Given the description of an element on the screen output the (x, y) to click on. 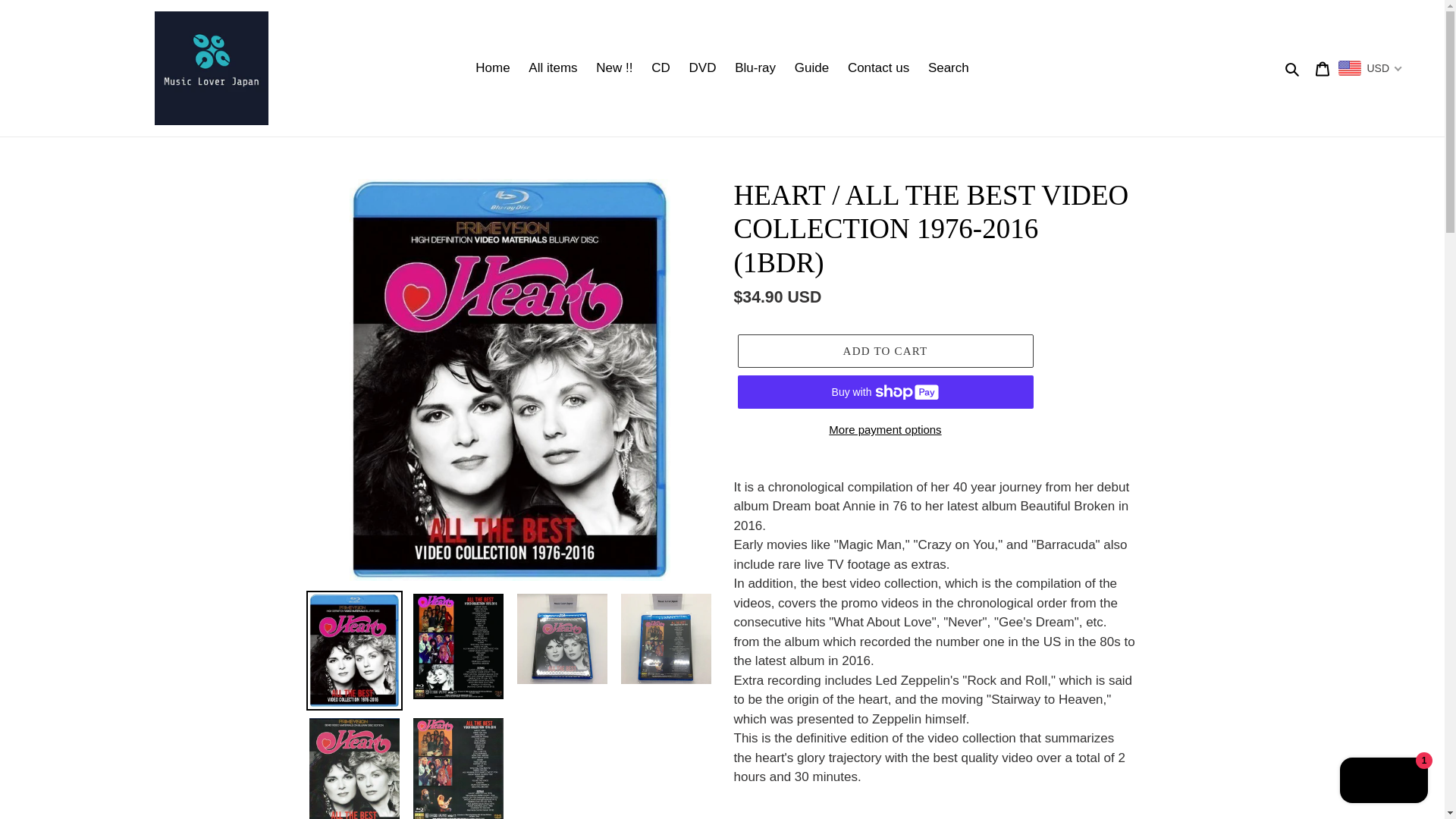
DVD (702, 68)
Search (948, 68)
Contact us (878, 68)
Blu-ray (754, 68)
All items (553, 68)
CD (660, 68)
Home (491, 68)
ADD TO CART (884, 350)
Guide (811, 68)
New !! (614, 68)
More payment options (884, 429)
Search (1292, 67)
Cart (1322, 67)
Shopify online store chat (1383, 781)
